Given the description of an element on the screen output the (x, y) to click on. 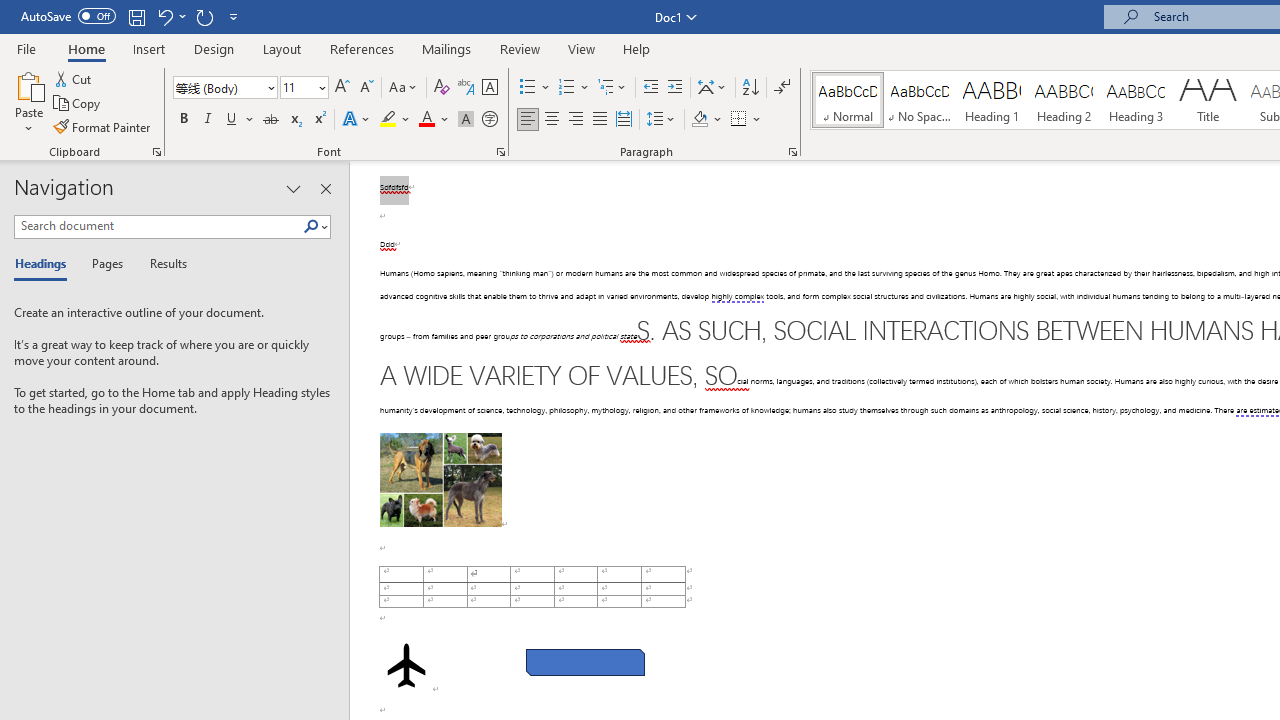
Undo Apply Quick Style (170, 15)
Subscript (294, 119)
Home (86, 48)
Paragraph... (792, 151)
Font Color Red (426, 119)
Headings (45, 264)
Heading 1 (991, 100)
Font Size (297, 87)
Heading 2 (1063, 100)
Numbering (573, 87)
Increase Indent (675, 87)
File Tab (26, 48)
Font... (500, 151)
Character Shading (465, 119)
Strikethrough (270, 119)
